Given the description of an element on the screen output the (x, y) to click on. 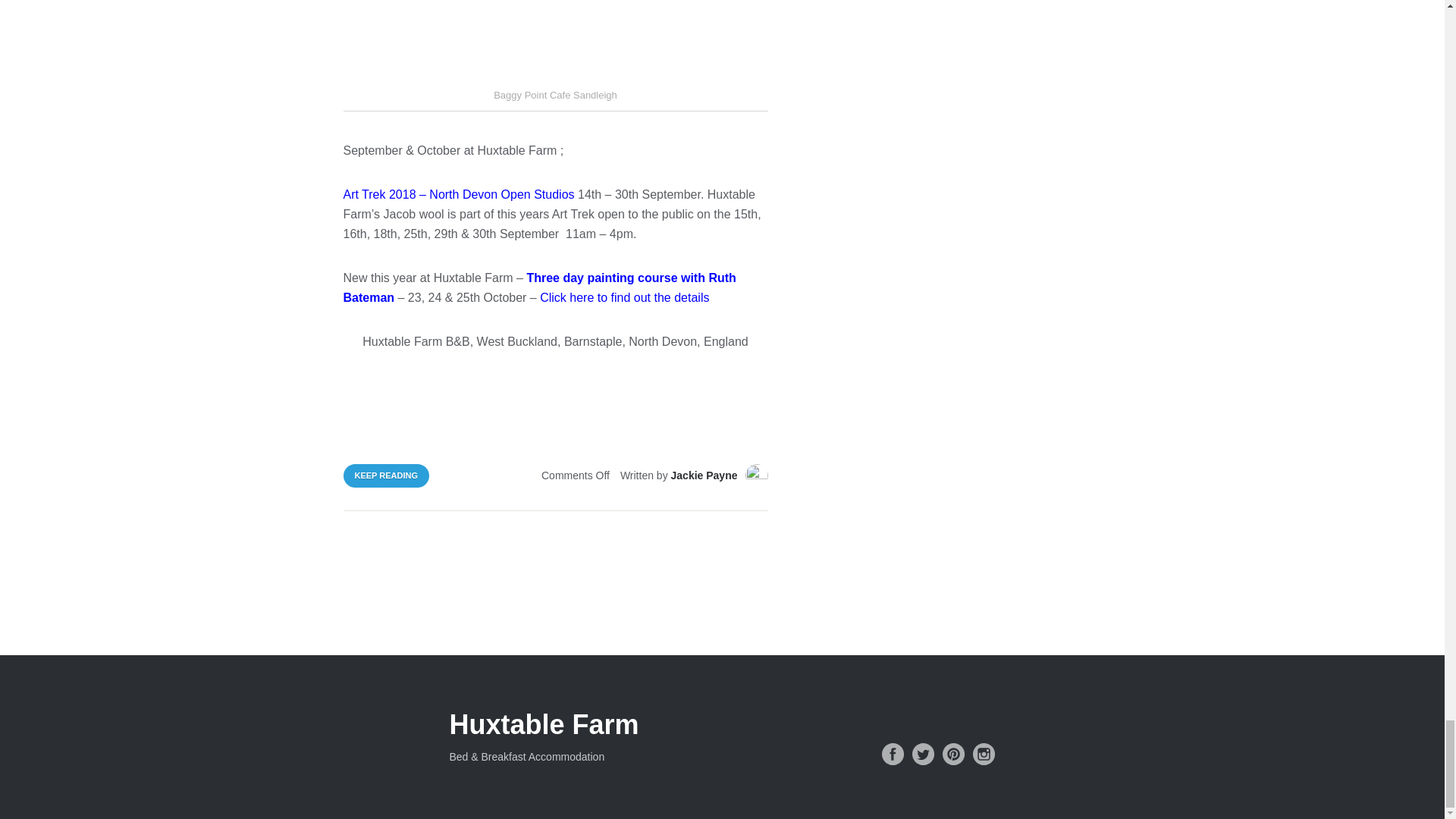
View all posts by Jackie Payne (704, 475)
Follow on Instagram (983, 753)
Follow on Twitter (922, 753)
Follow on Pinterest (952, 753)
Follow on Facebook (892, 753)
